Given the description of an element on the screen output the (x, y) to click on. 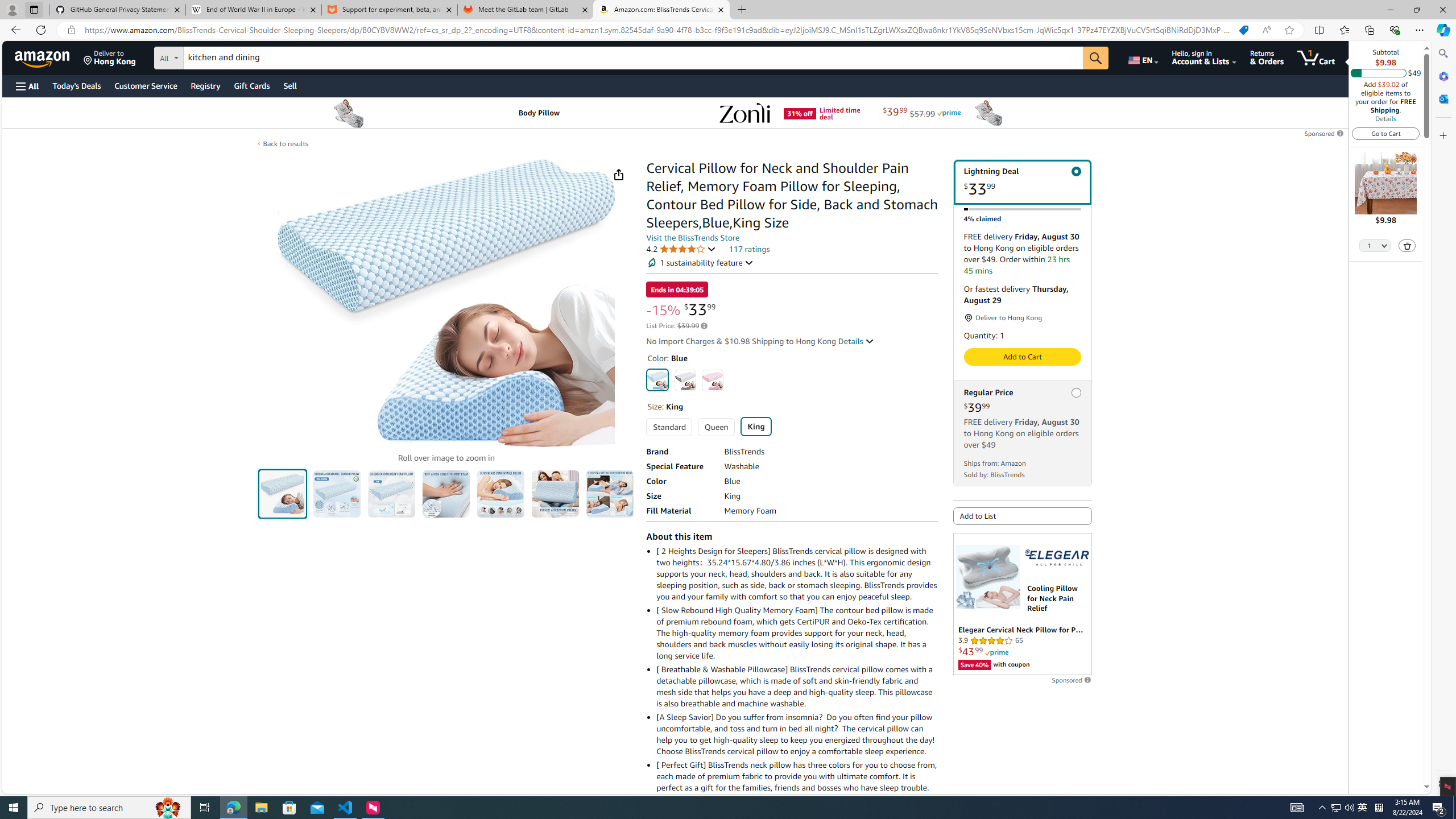
Sustainability features (652, 262)
End of World War II in Europe - Wikipedia (253, 9)
Share (618, 174)
Today's Deals (76, 85)
Standard (668, 426)
Grey (684, 380)
Hello, sign in Account & Lists (1203, 57)
Go (1096, 57)
